Given the description of an element on the screen output the (x, y) to click on. 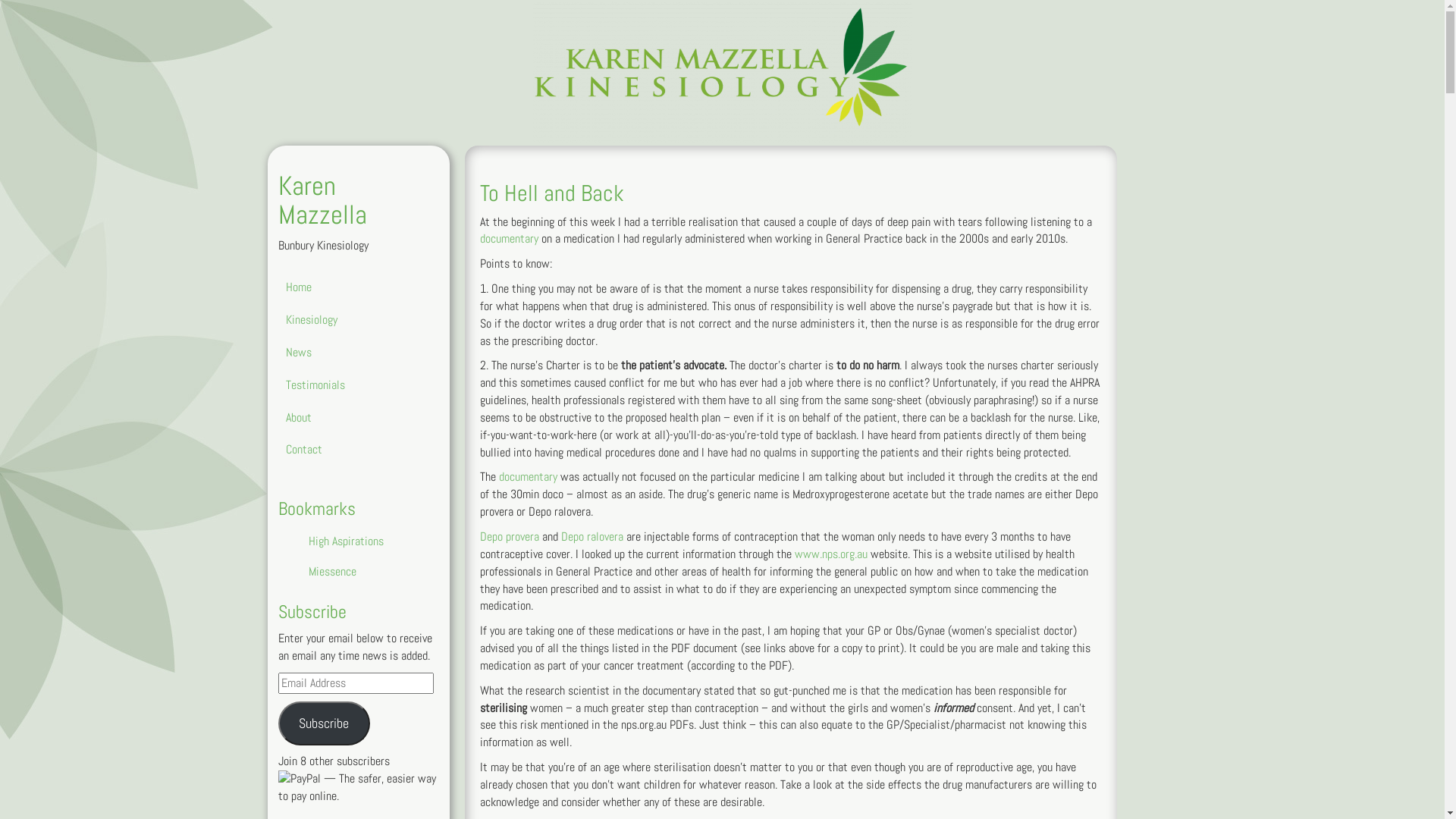
Depo ralovera Element type: text (592, 536)
News Element type: text (350, 352)
www.nps.org.au Element type: text (830, 553)
About Element type: text (350, 417)
Kinesiology Element type: text (350, 320)
documentary Element type: text (527, 476)
Miessence Element type: text (374, 571)
To Hell and Back Element type: text (551, 192)
Subscribe Element type: text (323, 723)
documentary Element type: text (508, 238)
Home Element type: text (350, 287)
High Aspirations Element type: text (374, 541)
Depo provera Element type: text (508, 536)
Contact Element type: text (350, 449)
Karen Mazzella Element type: text (321, 199)
Testimonials Element type: text (350, 385)
